Given the description of an element on the screen output the (x, y) to click on. 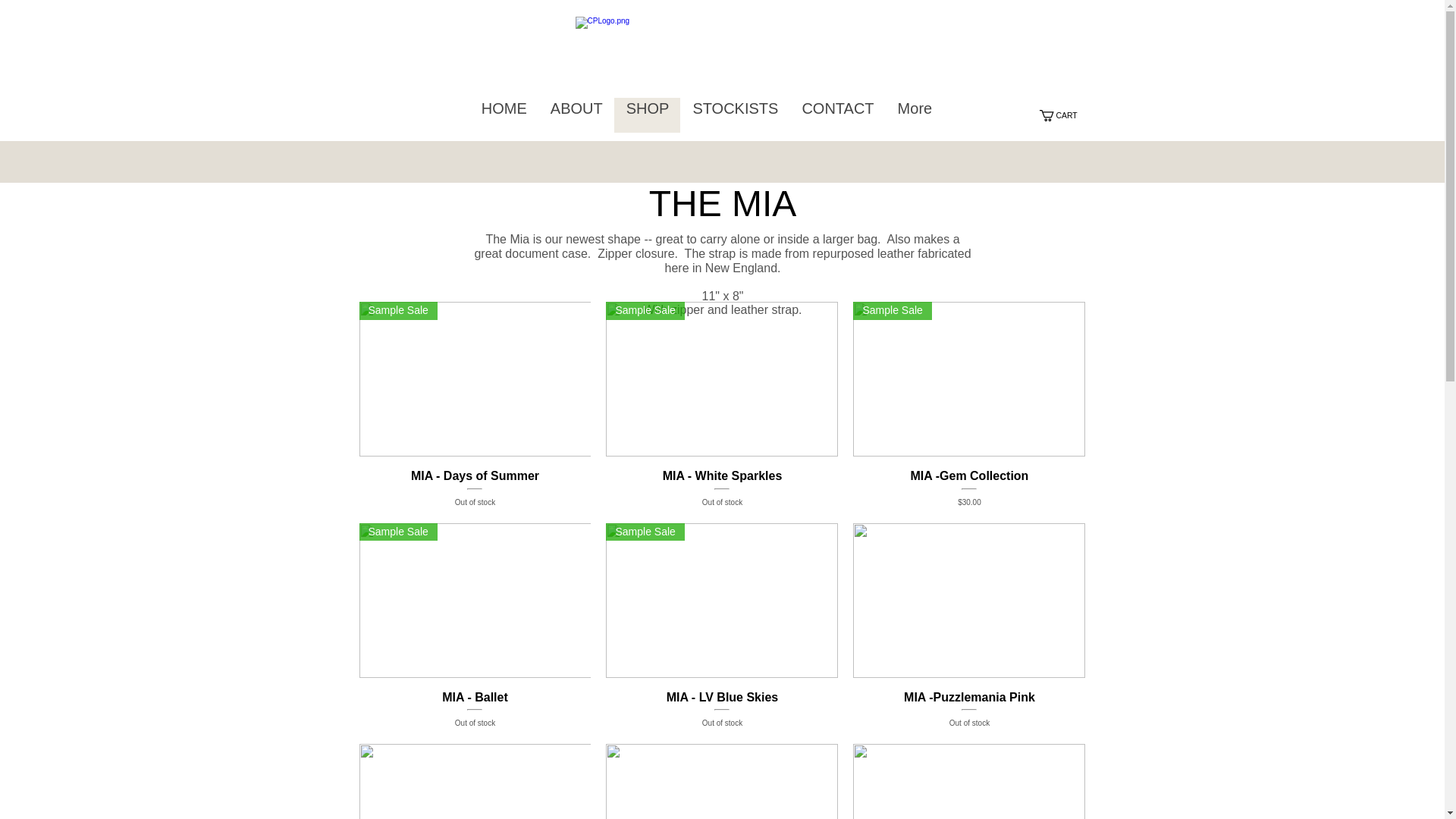
Sample Sale (475, 600)
Sample Sale (475, 487)
CART (721, 600)
STOCKISTS (1064, 115)
SHOP (734, 114)
ABOUT (647, 114)
HOME (968, 709)
